Given the description of an element on the screen output the (x, y) to click on. 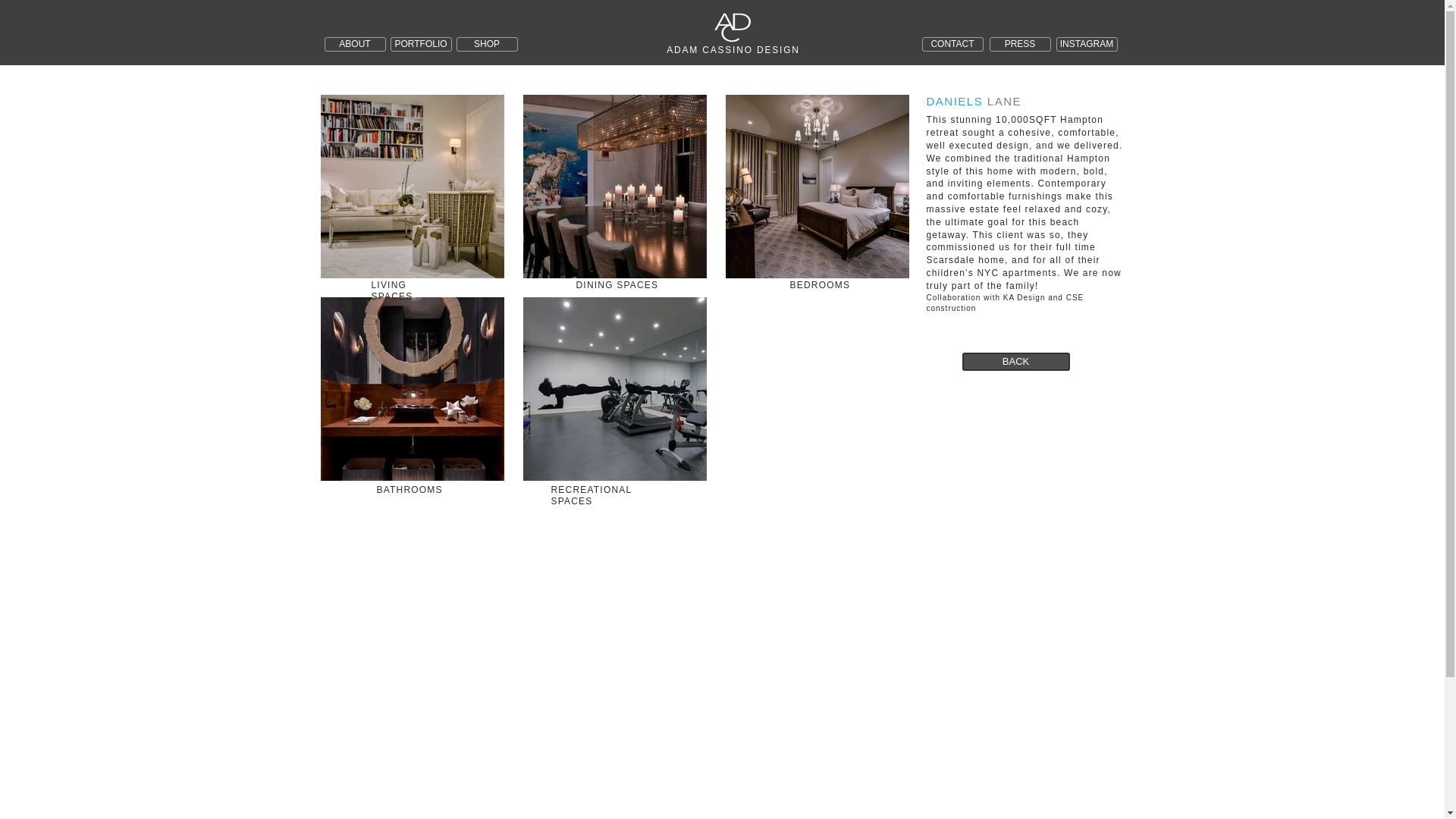
BACK (1014, 361)
SHOP (487, 43)
ADAM CASSINO DESIGN (732, 50)
PRESS (1018, 43)
PORTFOLIO (420, 43)
ABOUT (354, 43)
CONTACT (952, 43)
INSTAGRAM (1085, 43)
